Given the description of an element on the screen output the (x, y) to click on. 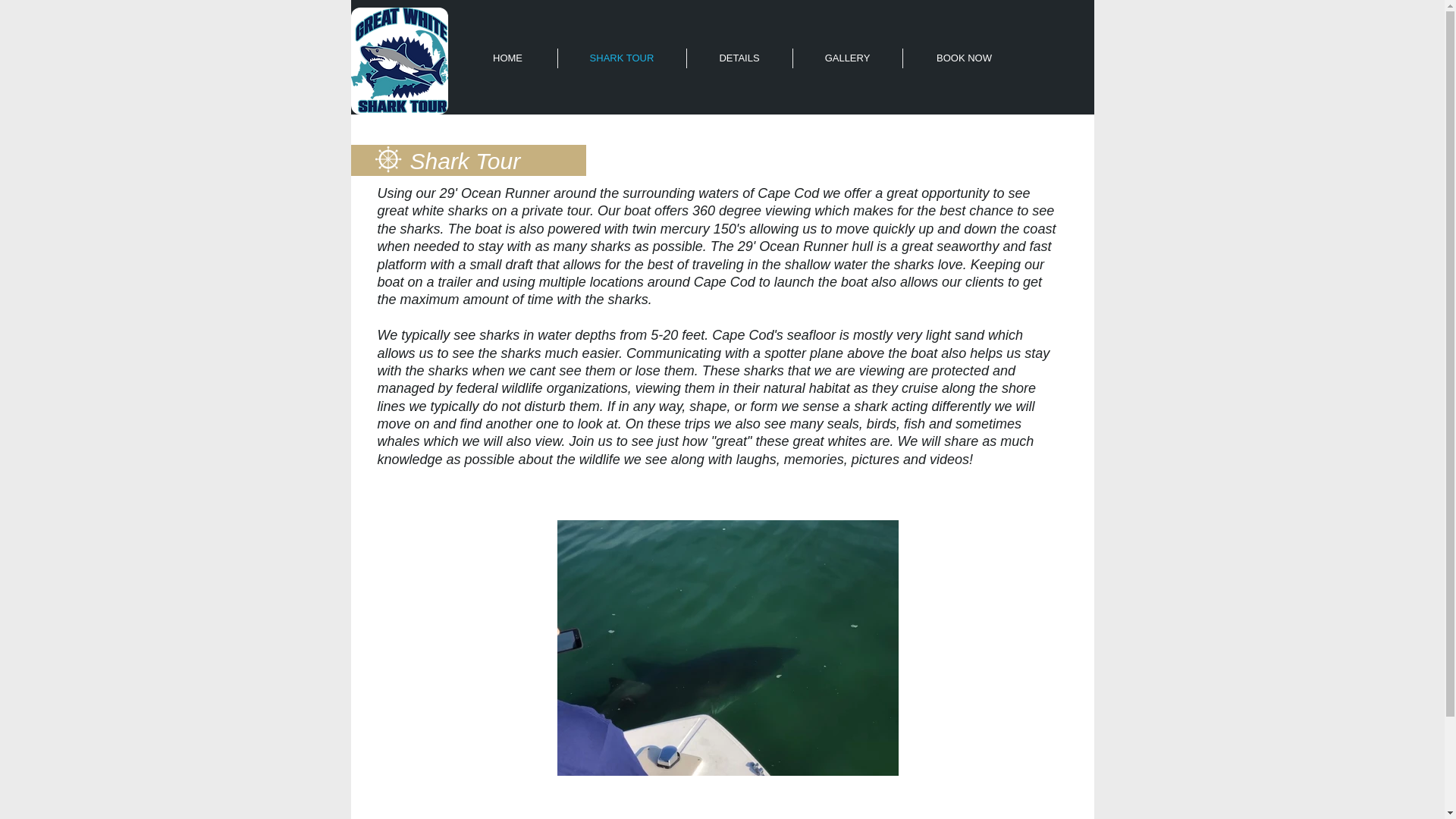
GALLERY (847, 57)
BOOK NOW (963, 57)
HOME (507, 57)
SHARK TOUR (621, 57)
DETAILS (739, 57)
